Given the description of an element on the screen output the (x, y) to click on. 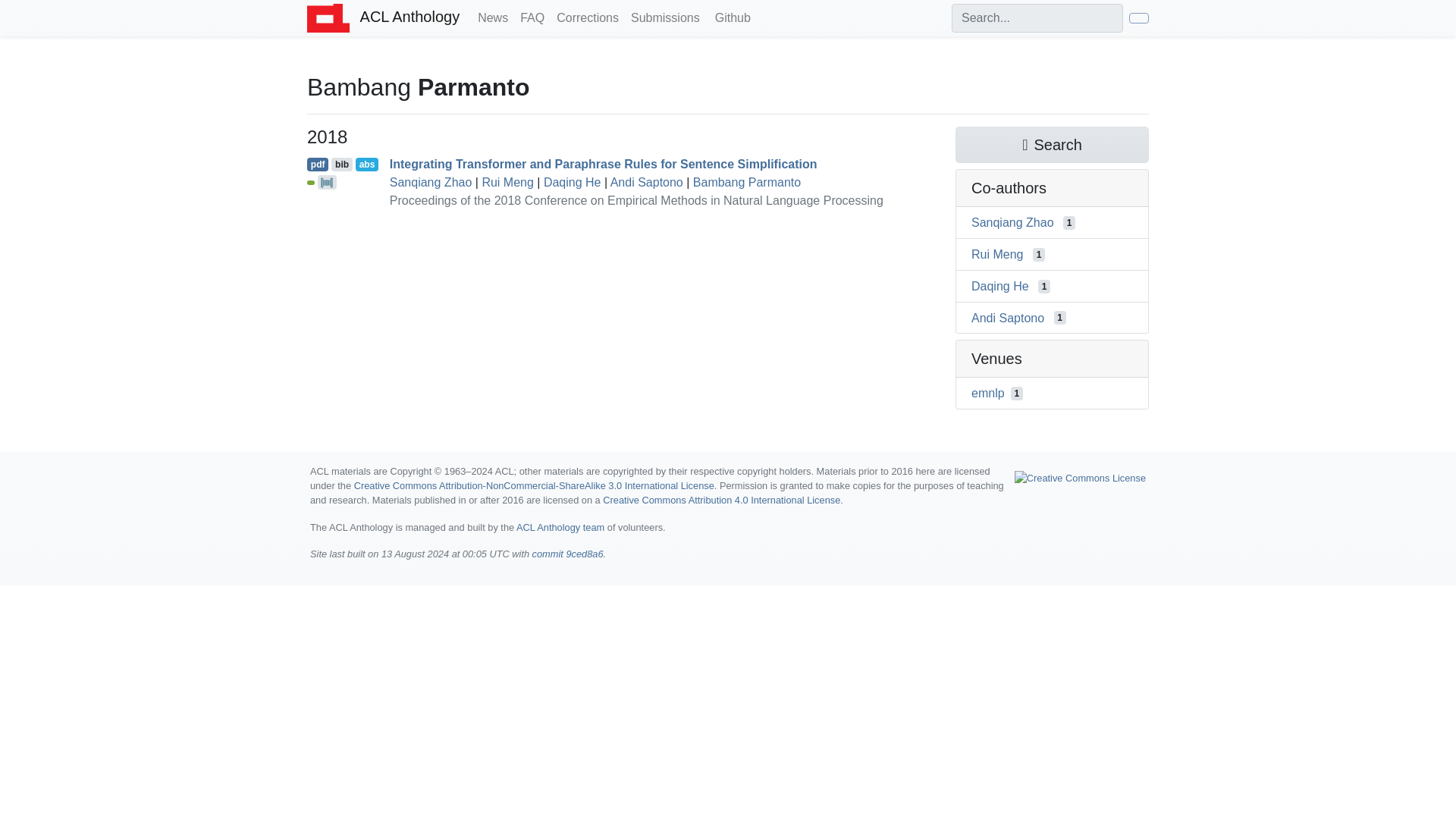
commit 9ced8a6 (568, 553)
Open PDF (318, 164)
ACL Anthology team (560, 527)
Andi Saptono (646, 182)
Creative Commons Attribution 4.0 International License (721, 500)
Search for 'Bambang Parmanto' on Semantic Scholar (1051, 144)
Export to BibTeX (341, 164)
Rui Meng (997, 254)
